Given the description of an element on the screen output the (x, y) to click on. 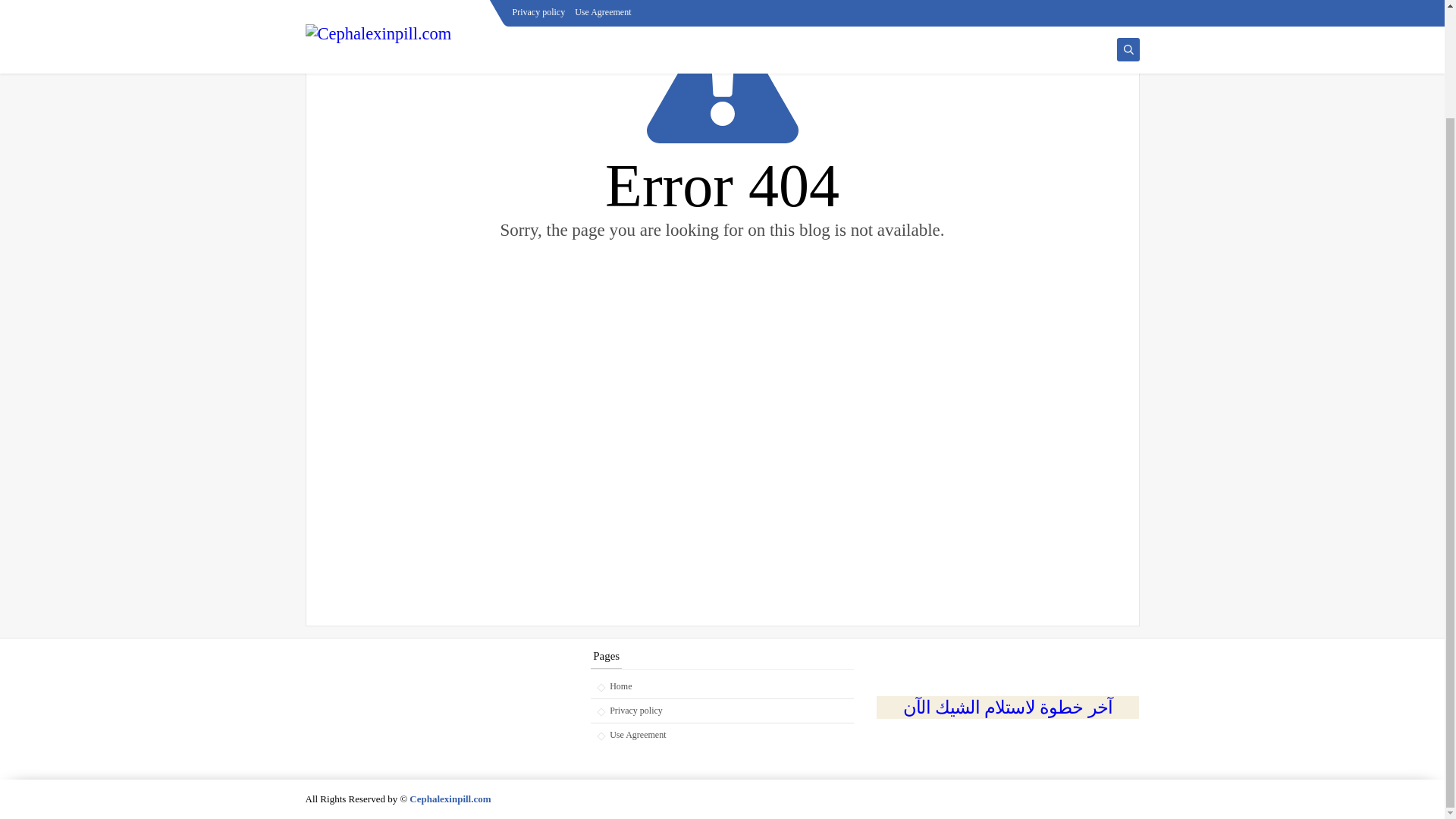
Home (722, 689)
Use Agreement (722, 732)
Privacy policy (722, 711)
Cephalexinpill.com (449, 799)
